Given the description of an element on the screen output the (x, y) to click on. 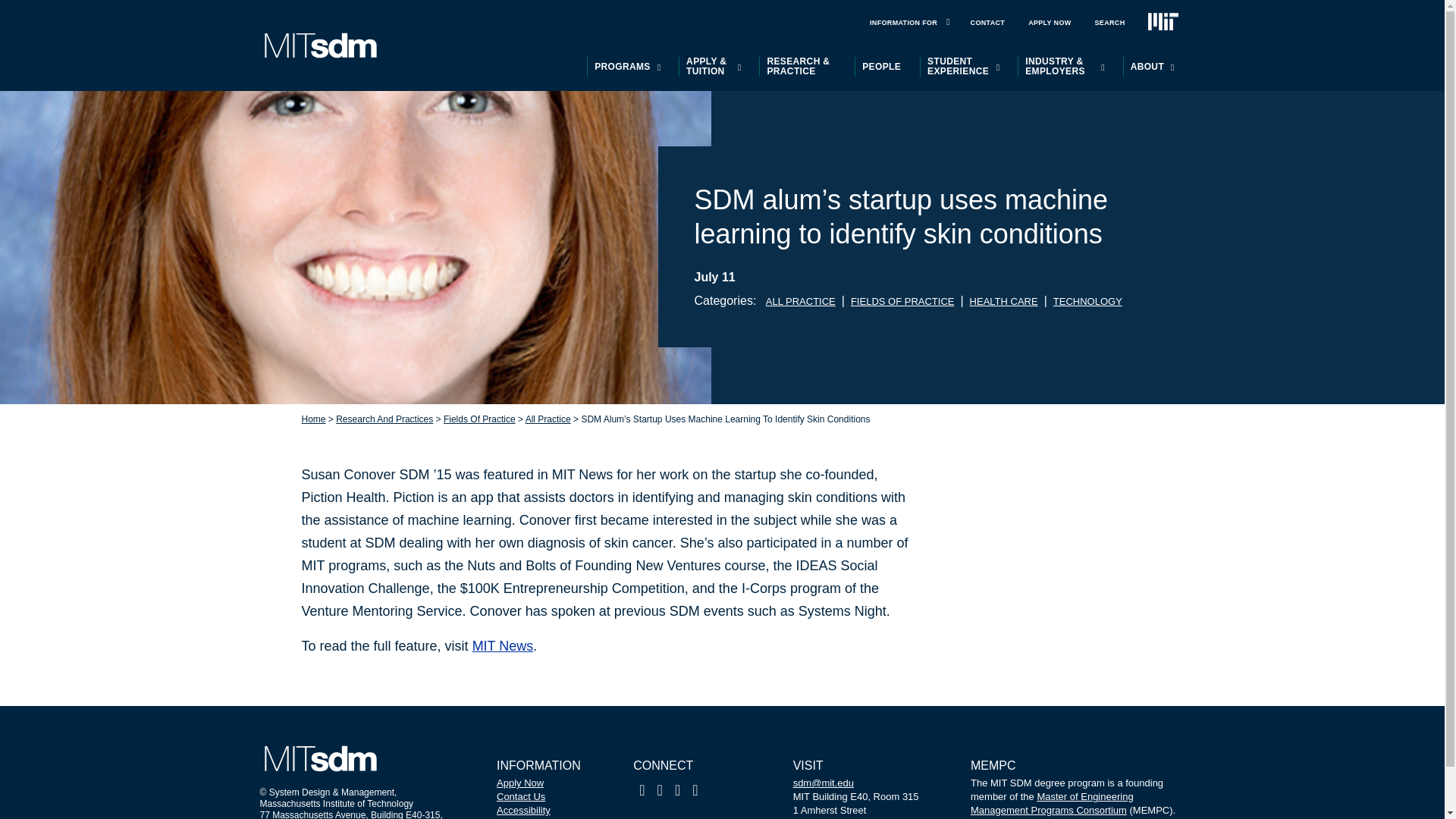
PEOPLE (881, 66)
STUDENT EXPERIENCE (957, 66)
ABOUT (1146, 66)
SEARCH (1110, 22)
INFORMATION FOR (903, 22)
Go to Research and Practices. (384, 419)
Go to the Fields of Practice Category archives. (479, 419)
PROGRAMS (622, 66)
CONTACT (987, 22)
Go to MIT SDM - System Design and Management. (313, 419)
Go to the All Practice Category archives. (547, 419)
APPLY NOW (1049, 22)
